Given the description of an element on the screen output the (x, y) to click on. 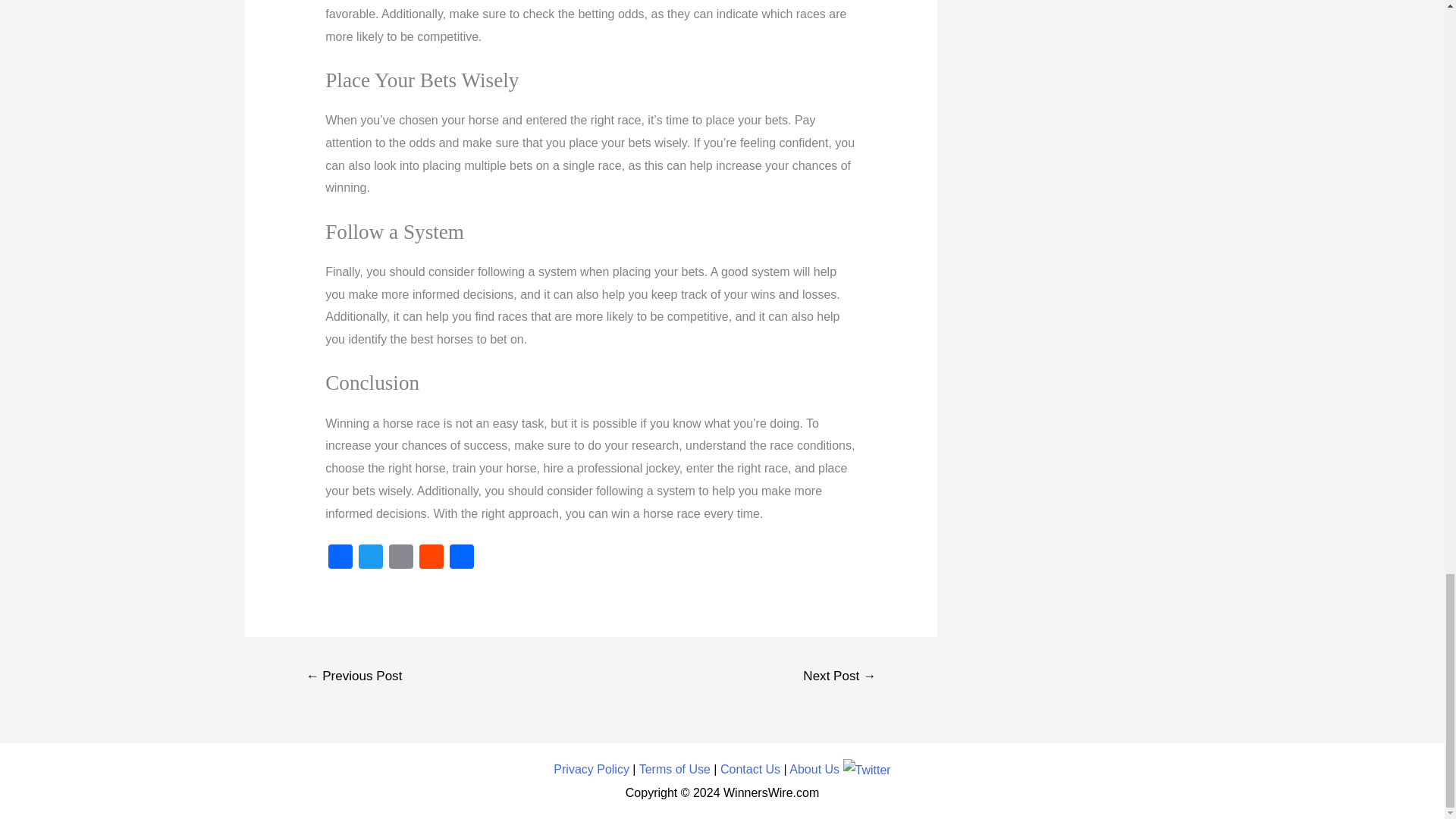
Email (400, 558)
Twitter (370, 558)
Email (400, 558)
Reddit (431, 558)
Twitter (370, 558)
Facebook (339, 558)
Facebook (339, 558)
Reddit (431, 558)
Share (461, 558)
